Given the description of an element on the screen output the (x, y) to click on. 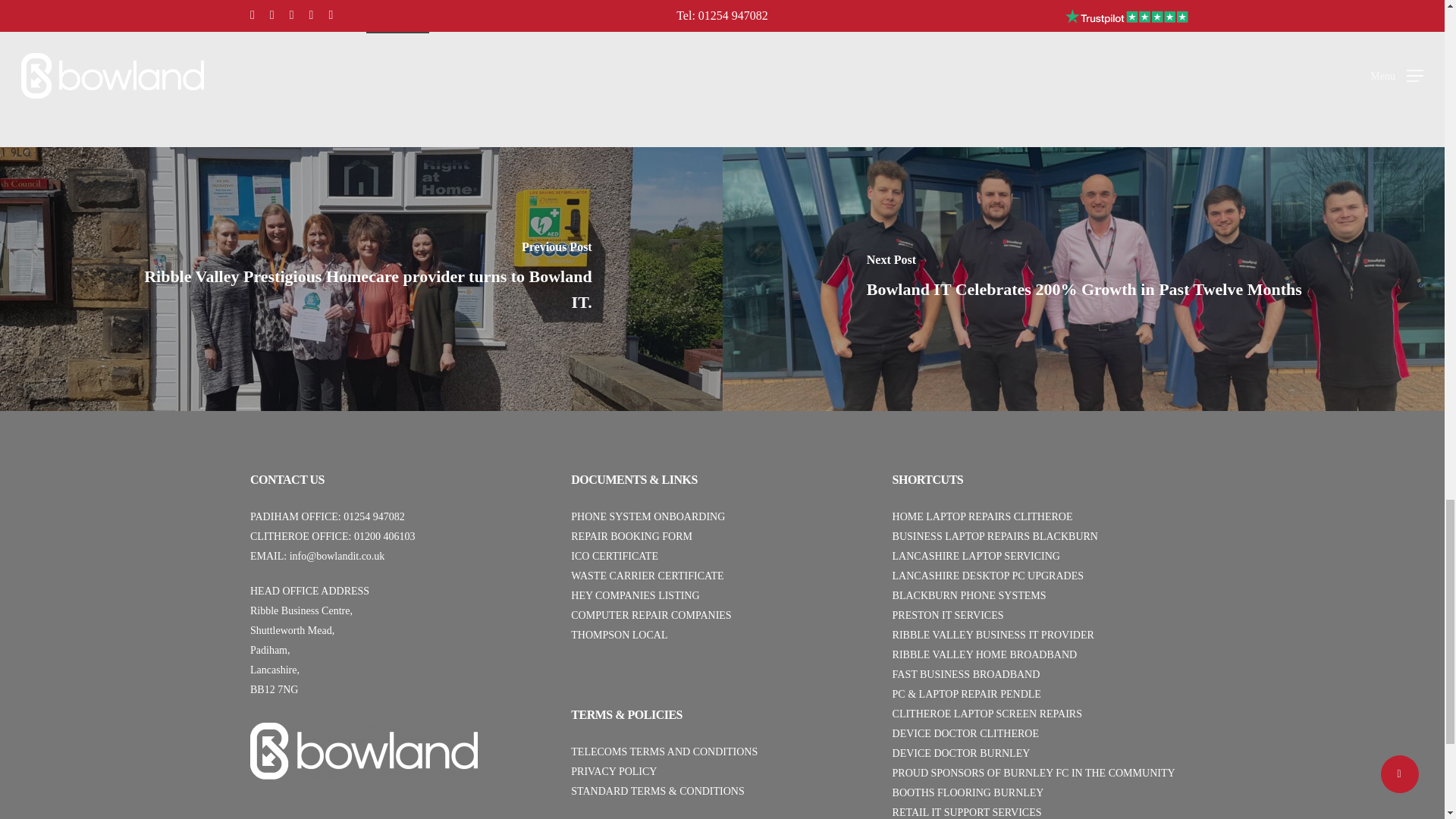
REPAIR BOOKING FORM (631, 536)
WASTE CARRIER CERTIFICATE (646, 575)
ICO CERTIFICATE (614, 555)
COMPUTER REPAIR COMPANIES (650, 614)
HOME LAPTOP REPAIRS CLITHEROE (982, 516)
BUSINESS LAPTOP REPAIRS BLACKBURN (994, 536)
PHONE SYSTEM ONBOARDING (647, 516)
HEY COMPANIES LISTING (634, 595)
THOMPSON LOCAL (618, 634)
LANCASHIRE LAPTOP SERVICING (975, 555)
